Given the description of an element on the screen output the (x, y) to click on. 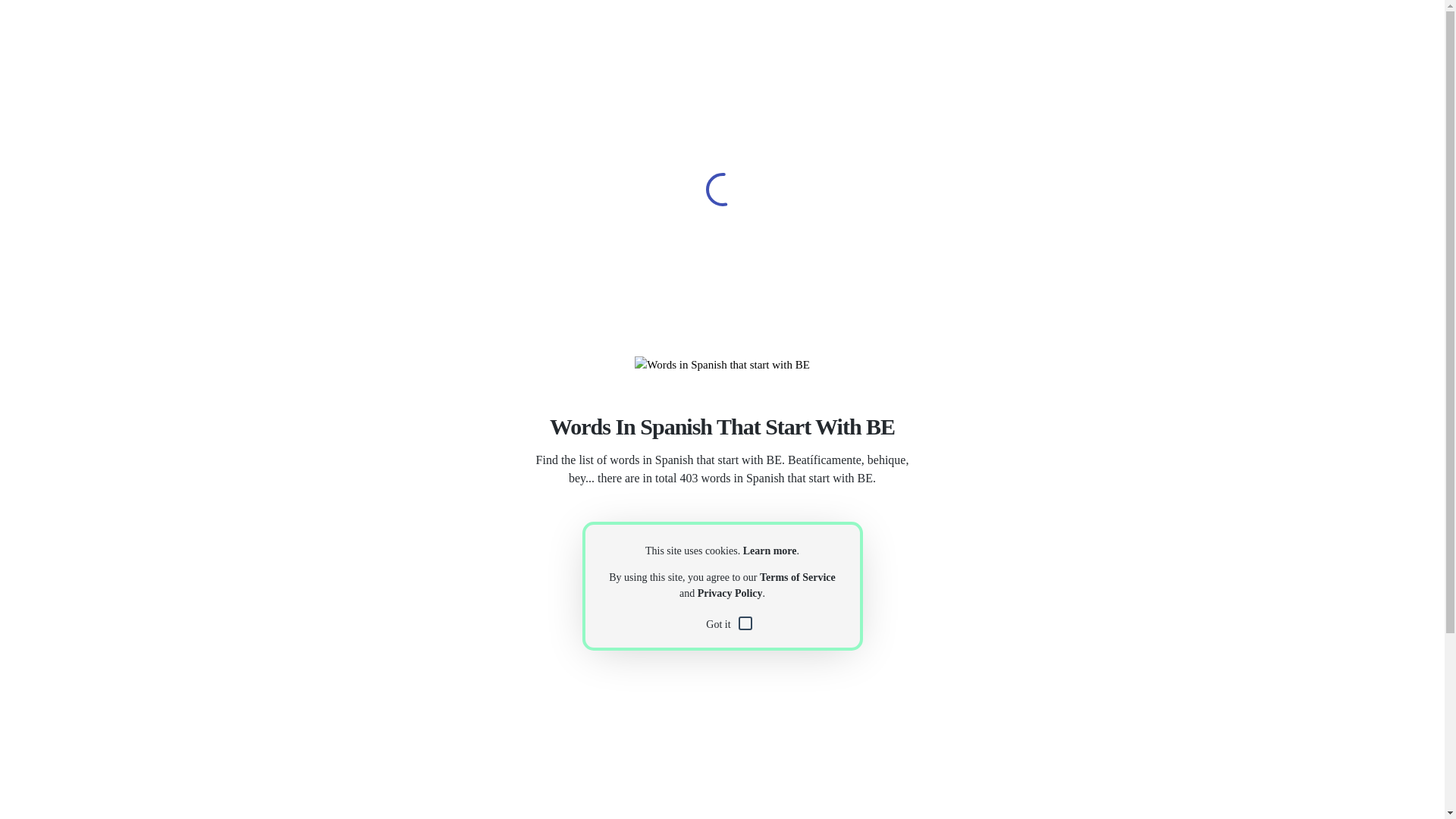
Privacy Policy (729, 593)
Terms of Service (797, 577)
Privacy Policy (729, 593)
Learn more (769, 550)
Learn more (769, 550)
Terms of Service (797, 577)
